Given the description of an element on the screen output the (x, y) to click on. 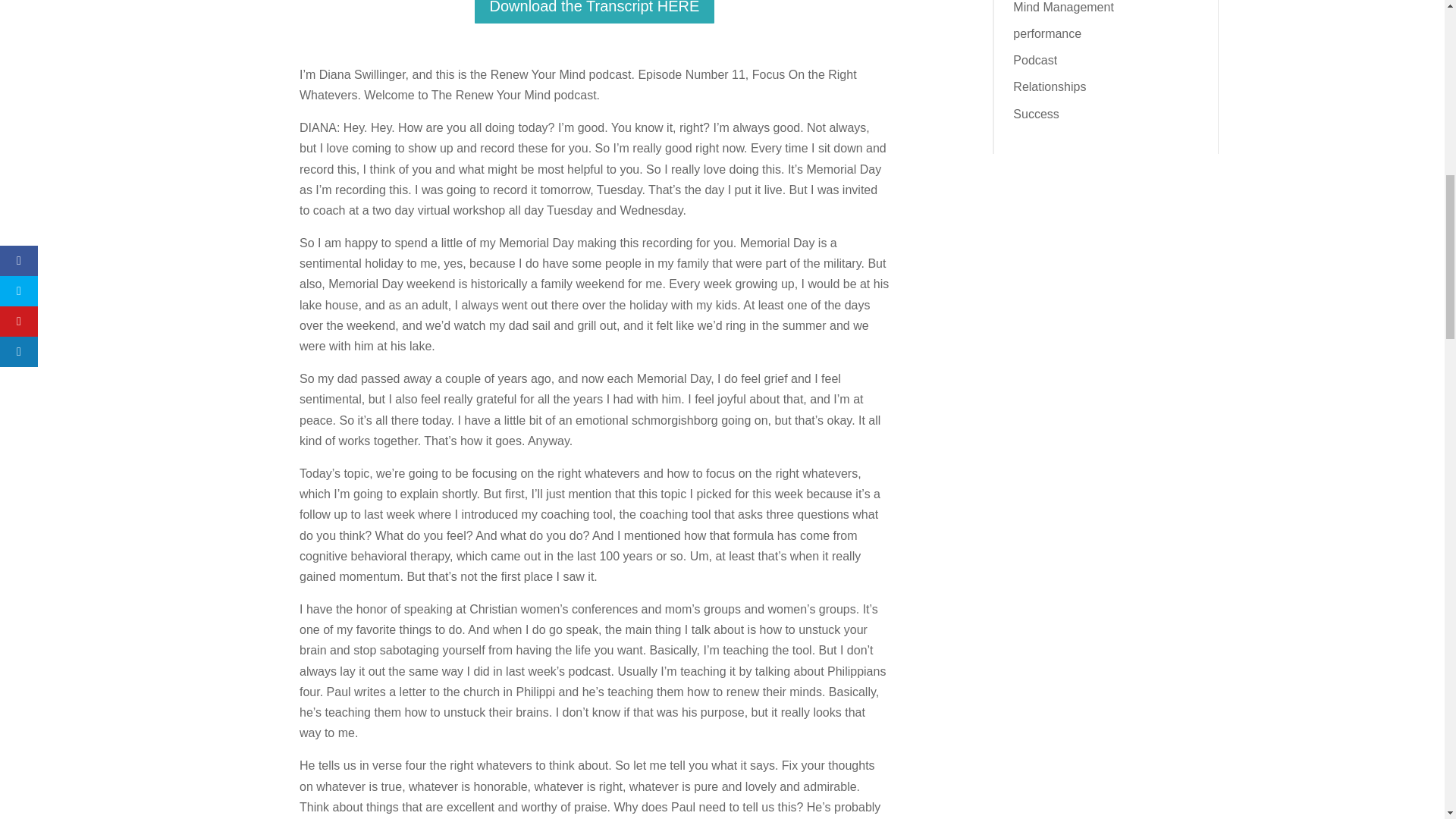
Download the Transcript HERE (594, 12)
Relationships (1049, 86)
performance (1047, 33)
Mind Management (1063, 6)
Podcast (1035, 60)
